Given the description of an element on the screen output the (x, y) to click on. 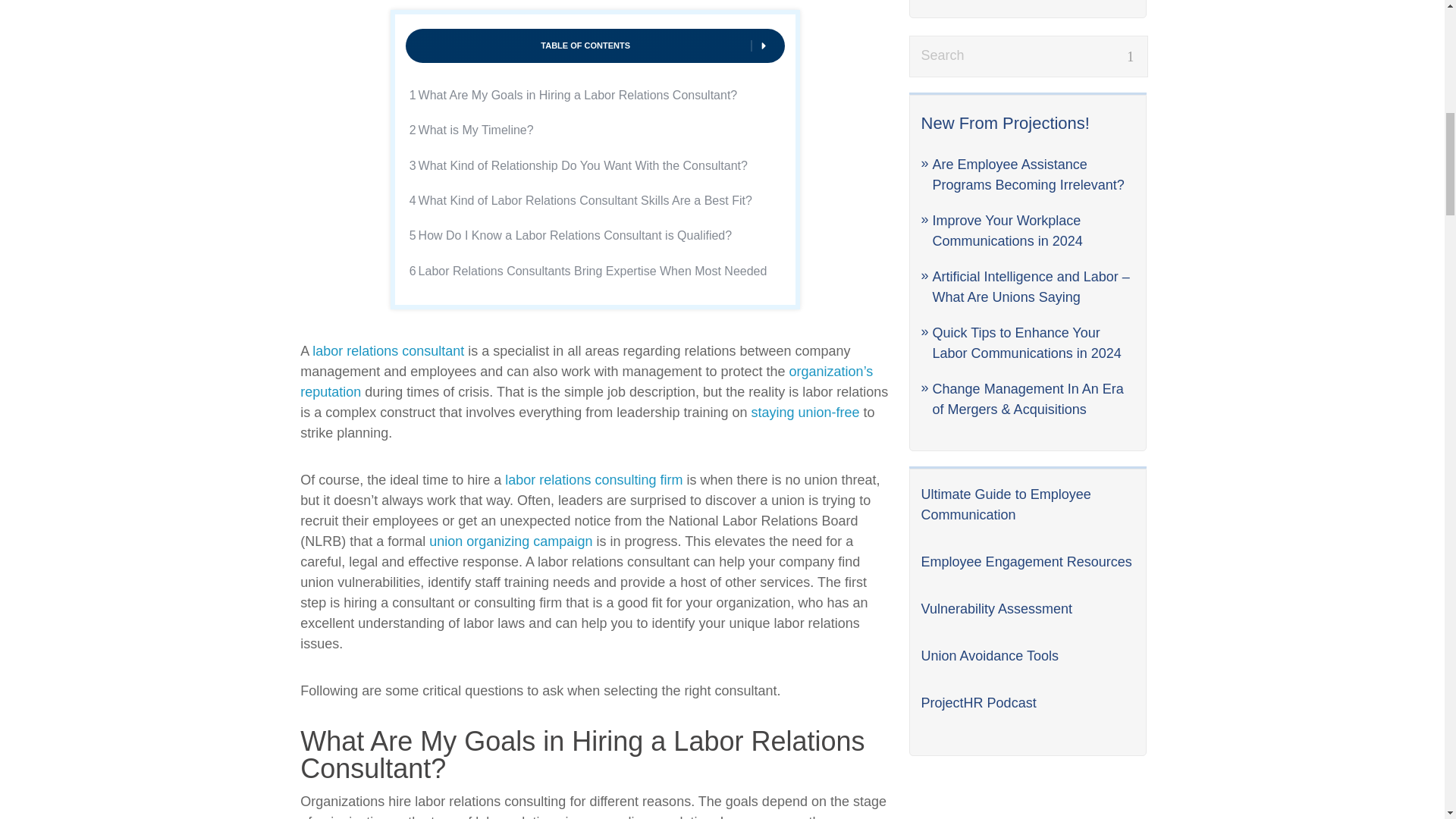
How Do I Know a Labor Relations Consultant is Qualified?  (577, 235)
What is My Timeline?  (478, 130)
What Are My Goals in Hiring a Labor Relations Consultant?  (580, 95)
What Kind of Relationship Do You Want With the Consultant?  (585, 166)
